Given the description of an element on the screen output the (x, y) to click on. 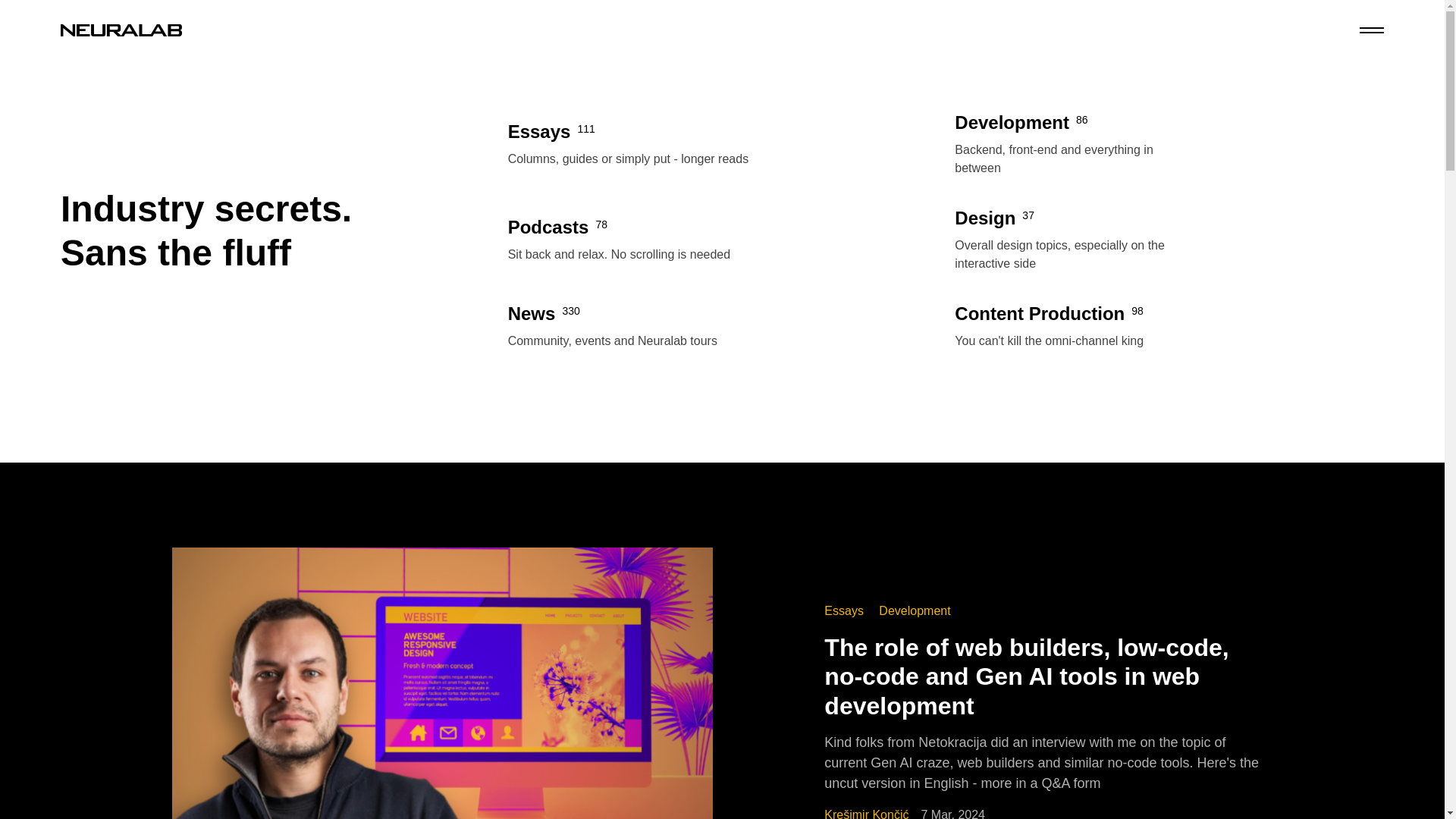
Content Production 98 (1078, 314)
Development (914, 610)
Podcasts 78 (631, 228)
Essays (845, 610)
Design 37 (1078, 219)
Development 86 (1078, 123)
News 330 (631, 314)
Essays 111 (631, 132)
